Given the description of an element on the screen output the (x, y) to click on. 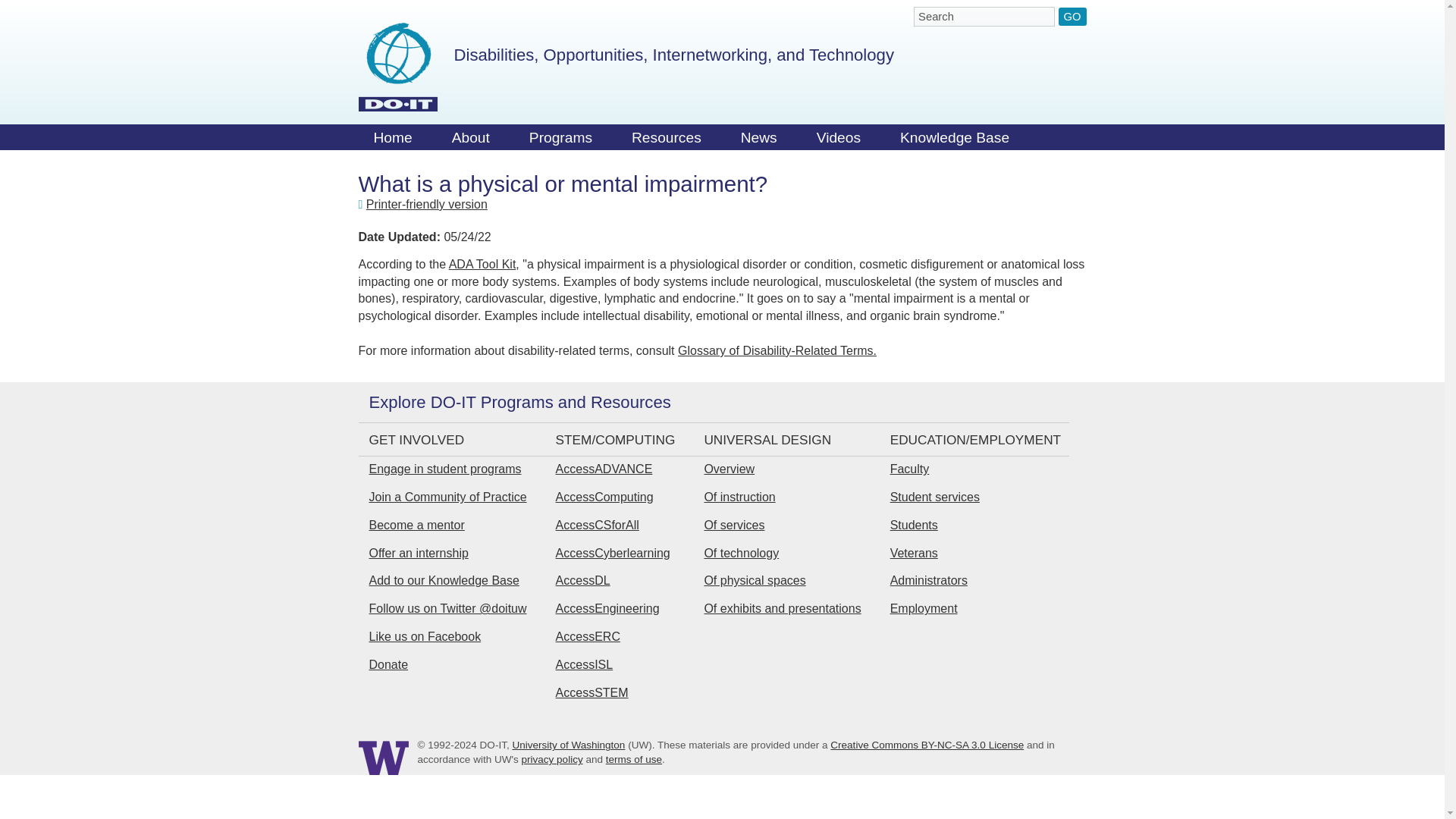
AccessADVANCE (604, 468)
Knowledge Base (955, 140)
Engage in student programs (444, 468)
AccessComputing (604, 496)
Like us on Facebook (424, 635)
AccessEngineering (607, 608)
Resources (665, 140)
Glossary of Disability-Related Terms. (777, 350)
Home (392, 140)
AccessCyberlearning (612, 553)
